Given the description of an element on the screen output the (x, y) to click on. 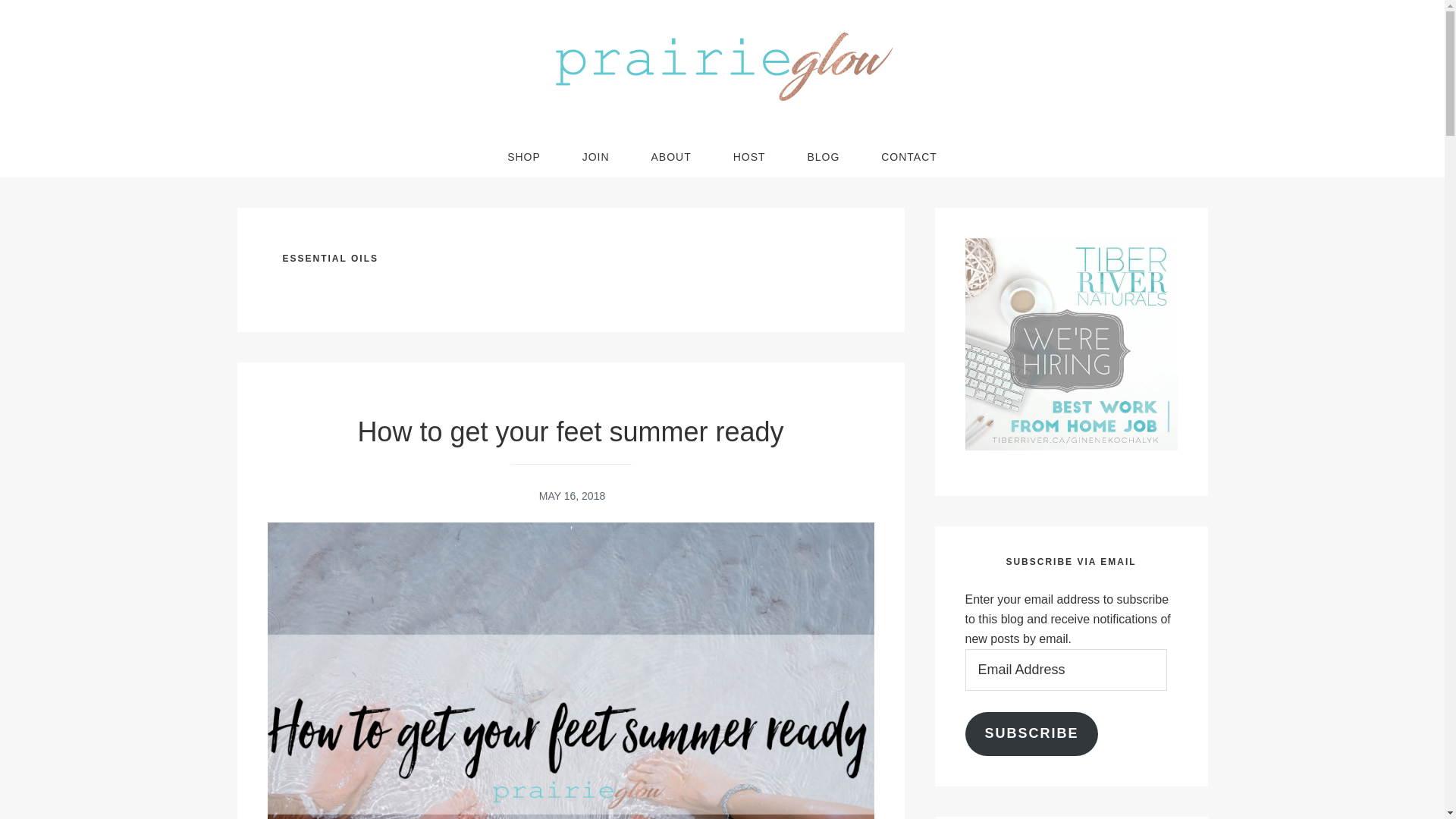
How to get your feet summer ready (569, 431)
HOST (749, 156)
CONTACT (908, 156)
ABOUT (670, 156)
BLOG (823, 156)
SHOP (523, 156)
PRAIRIE GLOW (721, 68)
JOIN (595, 156)
